Given the description of an element on the screen output the (x, y) to click on. 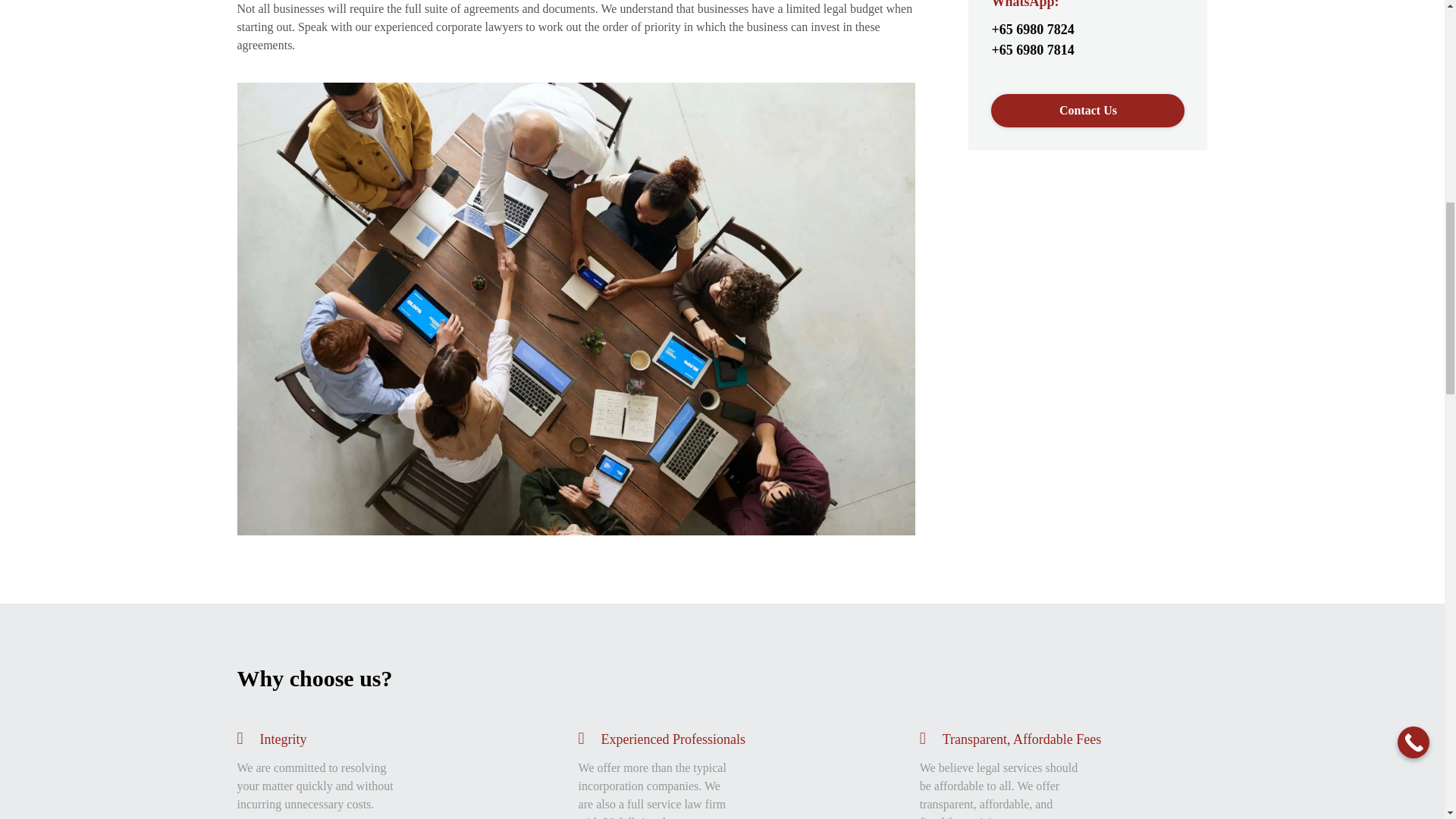
starting business (575, 530)
